Given the description of an element on the screen output the (x, y) to click on. 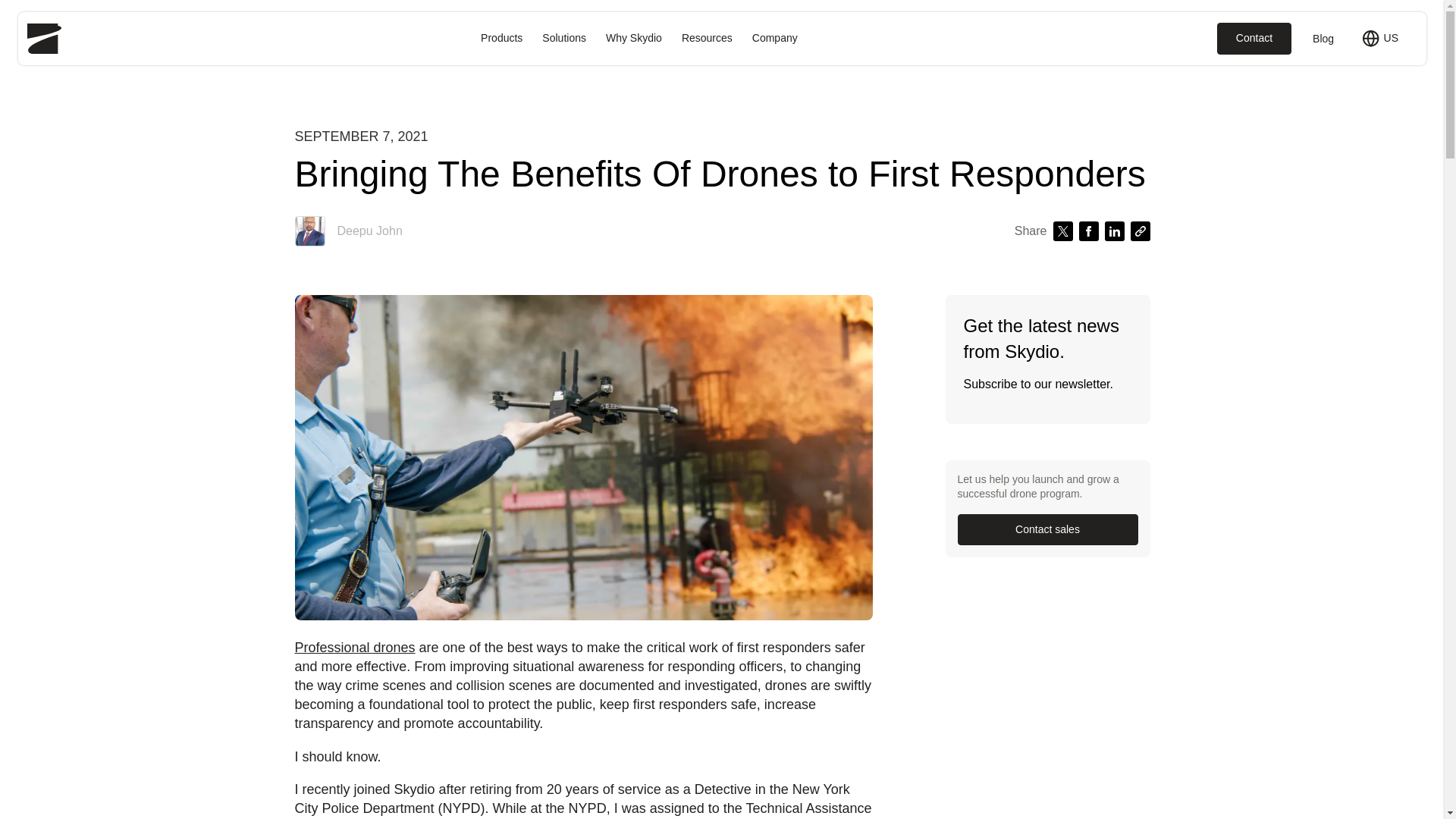
Blog (1316, 38)
US (1379, 38)
Resources (706, 38)
Contact (1254, 38)
Why Skydio (633, 38)
Products (501, 38)
Back to homepage (44, 38)
Company (775, 38)
Solutions (563, 38)
